Given the description of an element on the screen output the (x, y) to click on. 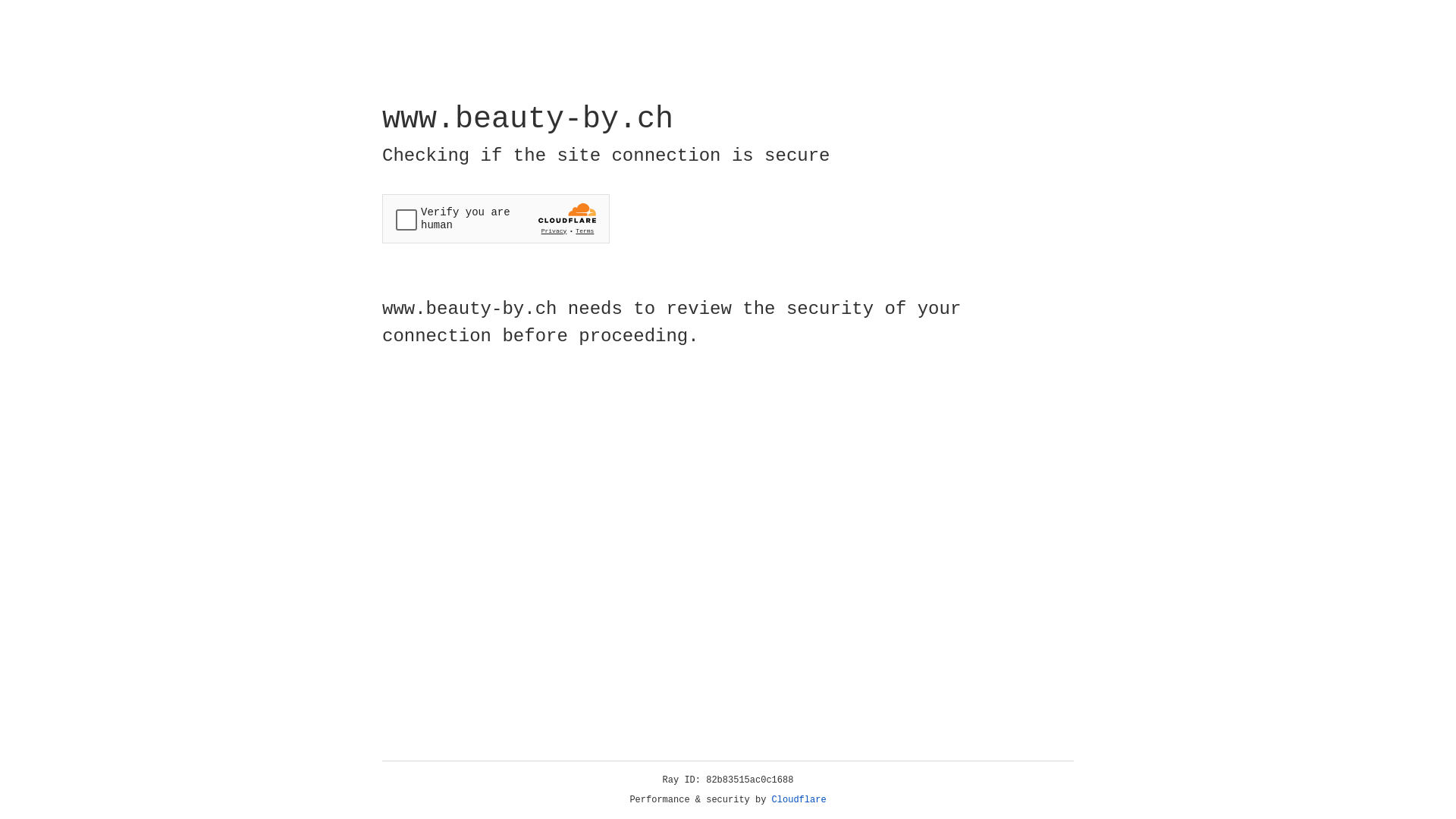
Widget containing a Cloudflare security challenge Element type: hover (495, 218)
Cloudflare Element type: text (798, 799)
